Given the description of an element on the screen output the (x, y) to click on. 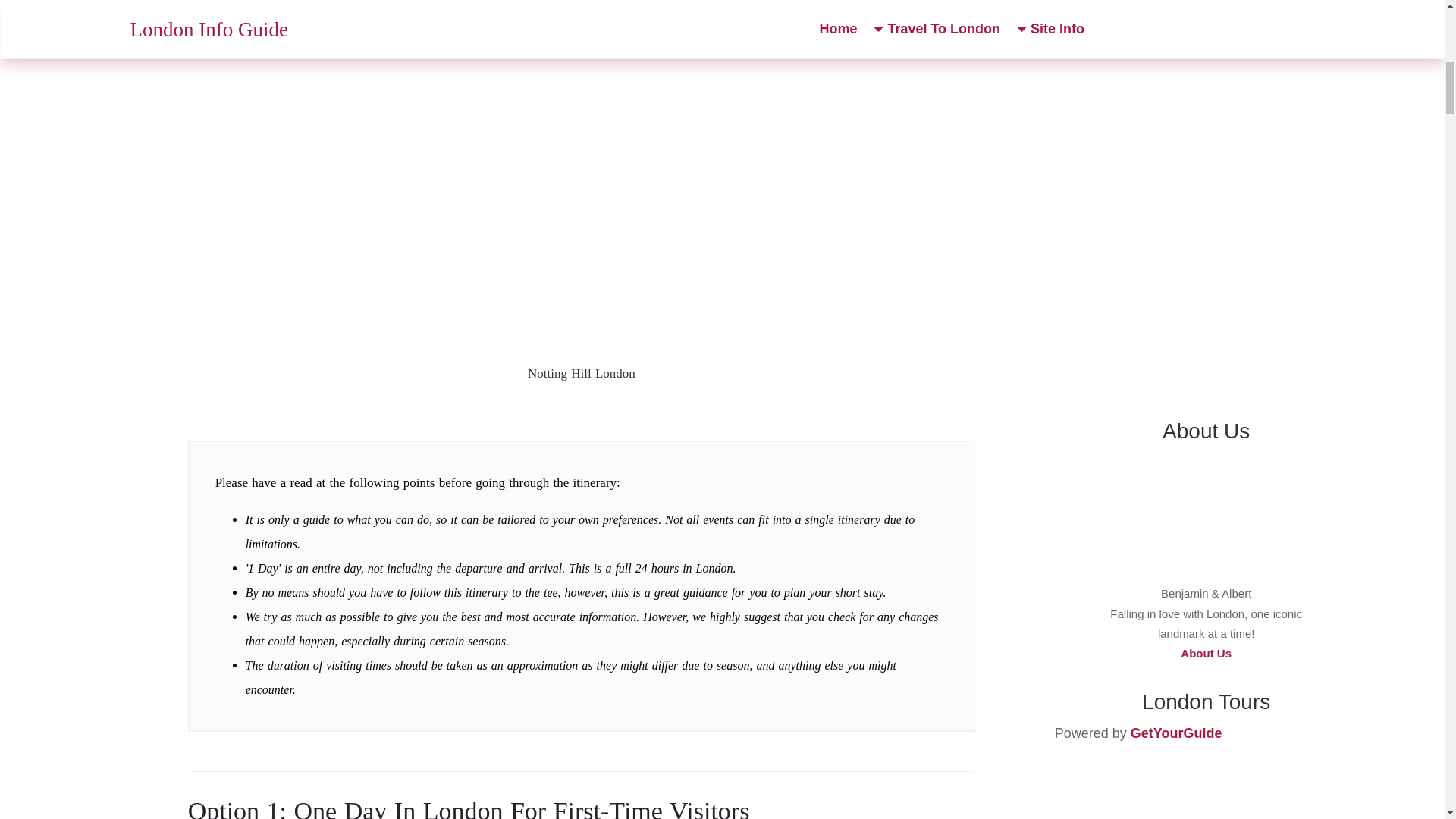
Click here to book your accommodation for London. (1206, 232)
benjamin-and-albert-london-info-guide.webp (1206, 520)
